Given the description of an element on the screen output the (x, y) to click on. 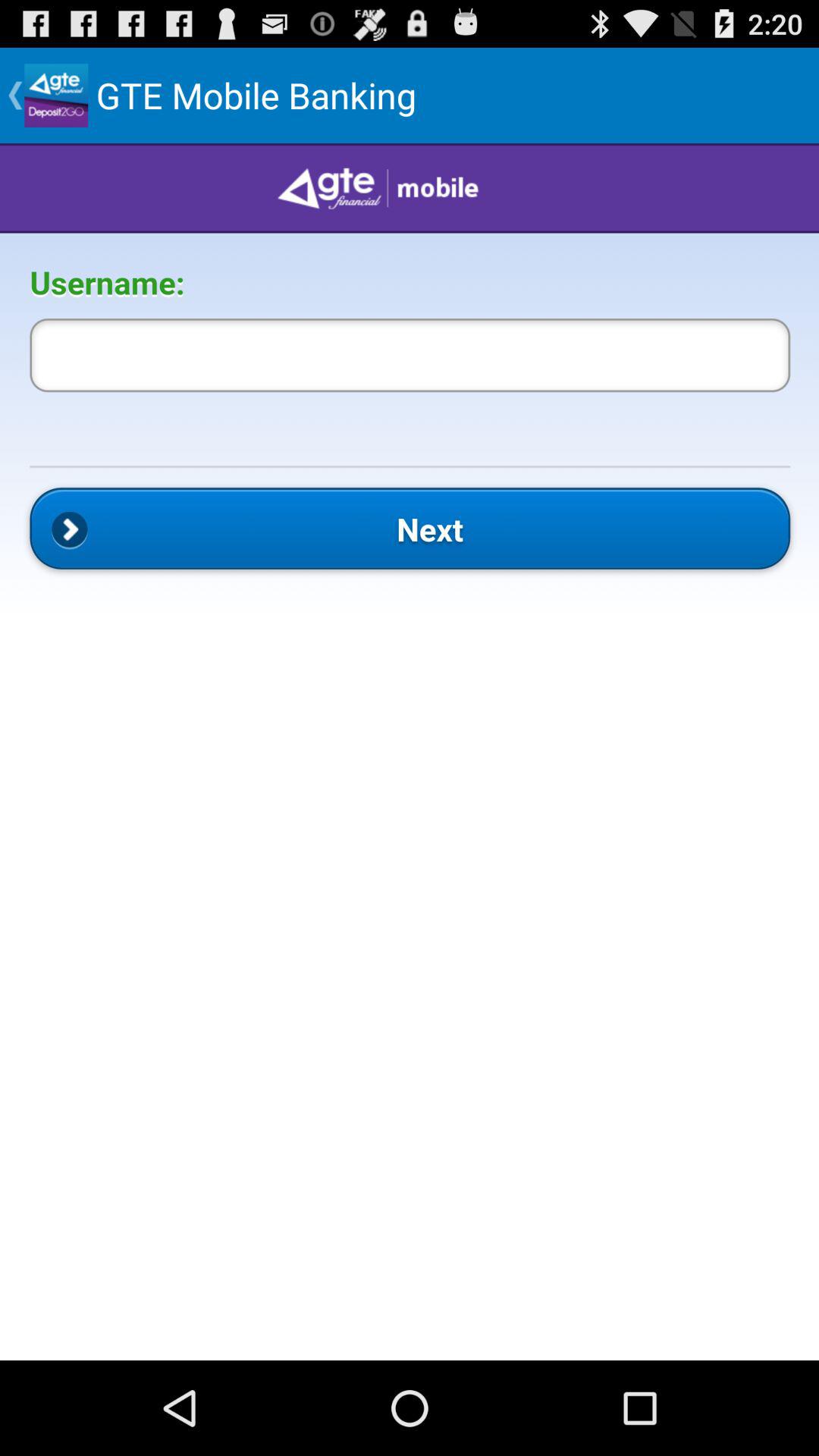
gte mobile banking open (409, 751)
